Given the description of an element on the screen output the (x, y) to click on. 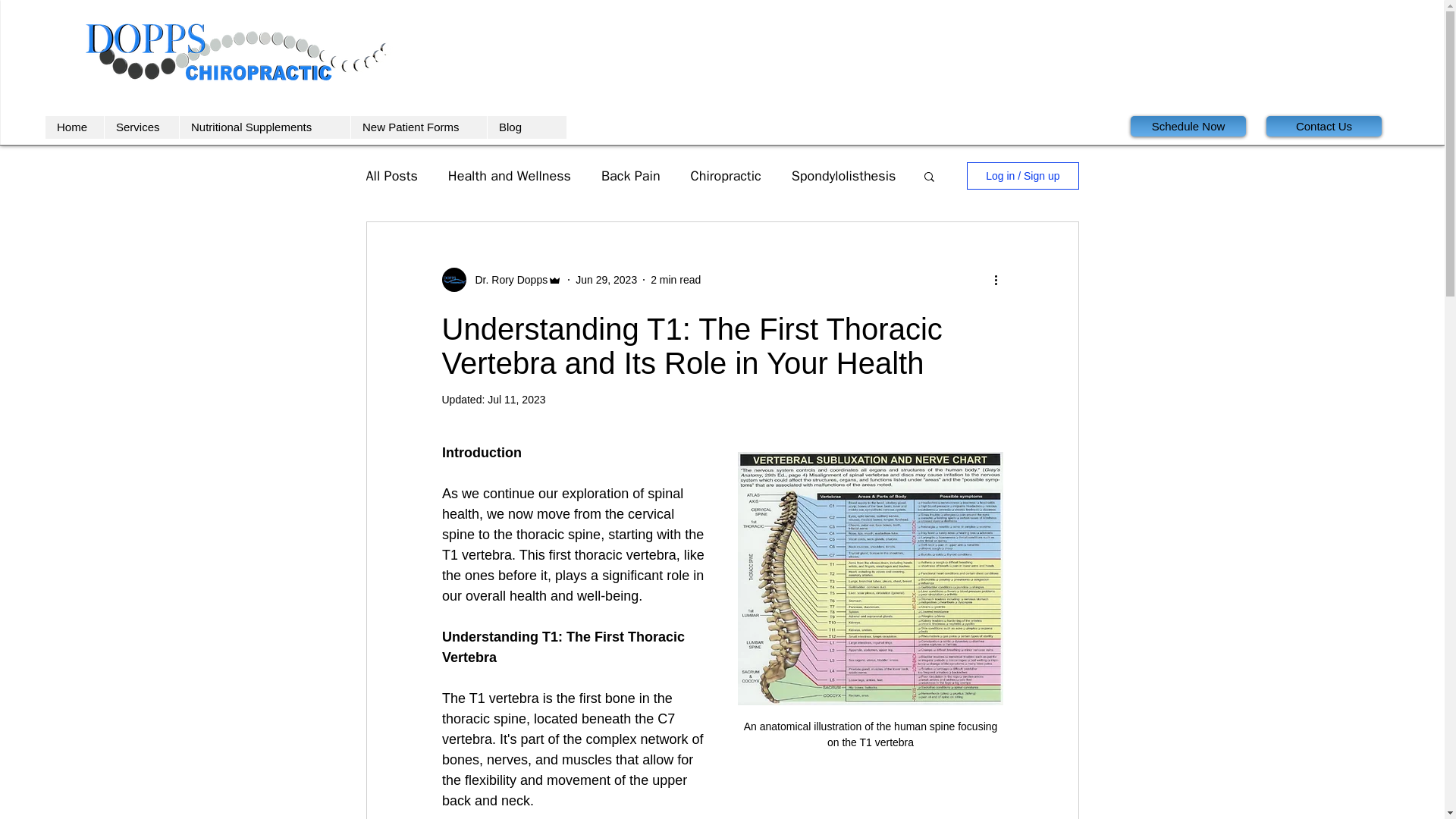
Back Pain (631, 176)
Dopps-Logo-Official-441x100-e14587490546 (240, 53)
Nutritional Supplements (264, 127)
Contact Us (1323, 126)
Jun 29, 2023 (606, 278)
All Posts (390, 176)
New Patient Forms (418, 127)
Spondylolisthesis (844, 176)
2 min read (675, 278)
Schedule Now (1188, 126)
Dr. Rory Dopps (506, 279)
Blog (511, 127)
Health and Wellness (509, 176)
Services (141, 127)
Jul 11, 2023 (515, 399)
